Given the description of an element on the screen output the (x, y) to click on. 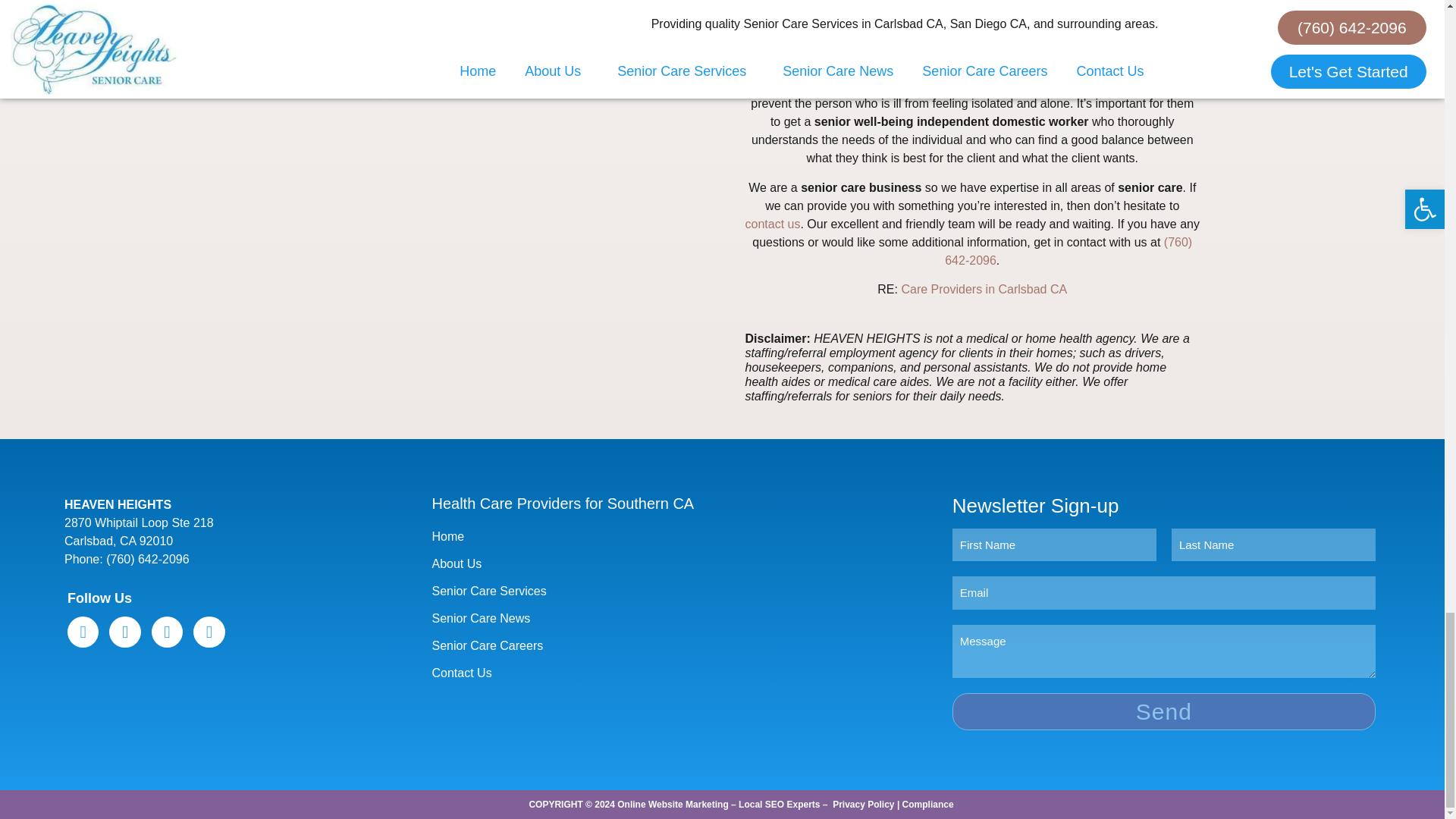
Privacy Policy (862, 804)
Care Providers in Carlsbad CA (984, 288)
Online Website Marketing - Local SEO Experts (718, 804)
Compliance (927, 804)
